Given the description of an element on the screen output the (x, y) to click on. 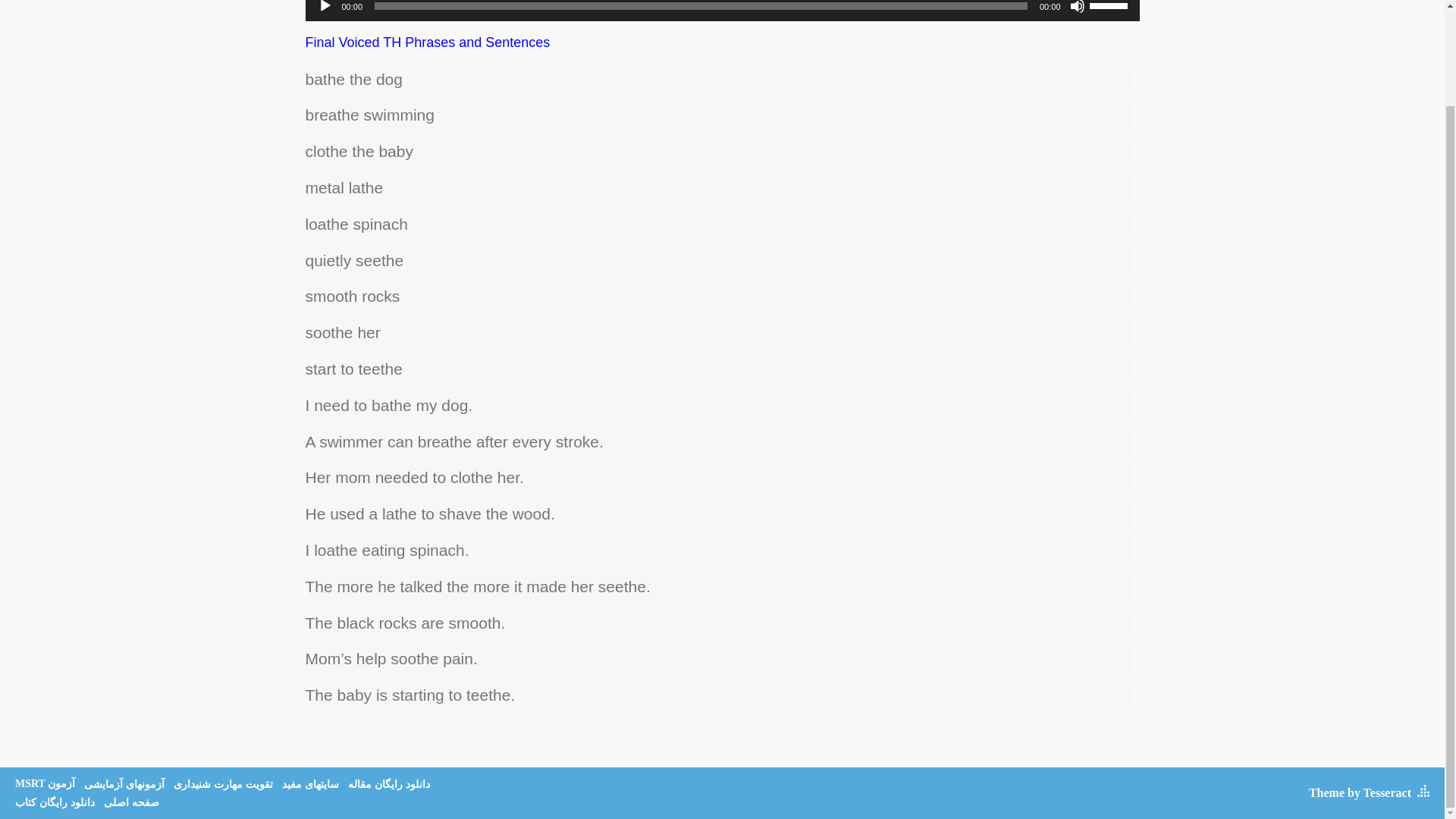
Play (324, 6)
Theme by Tesseract (1359, 792)
Mute (1076, 6)
